Given the description of an element on the screen output the (x, y) to click on. 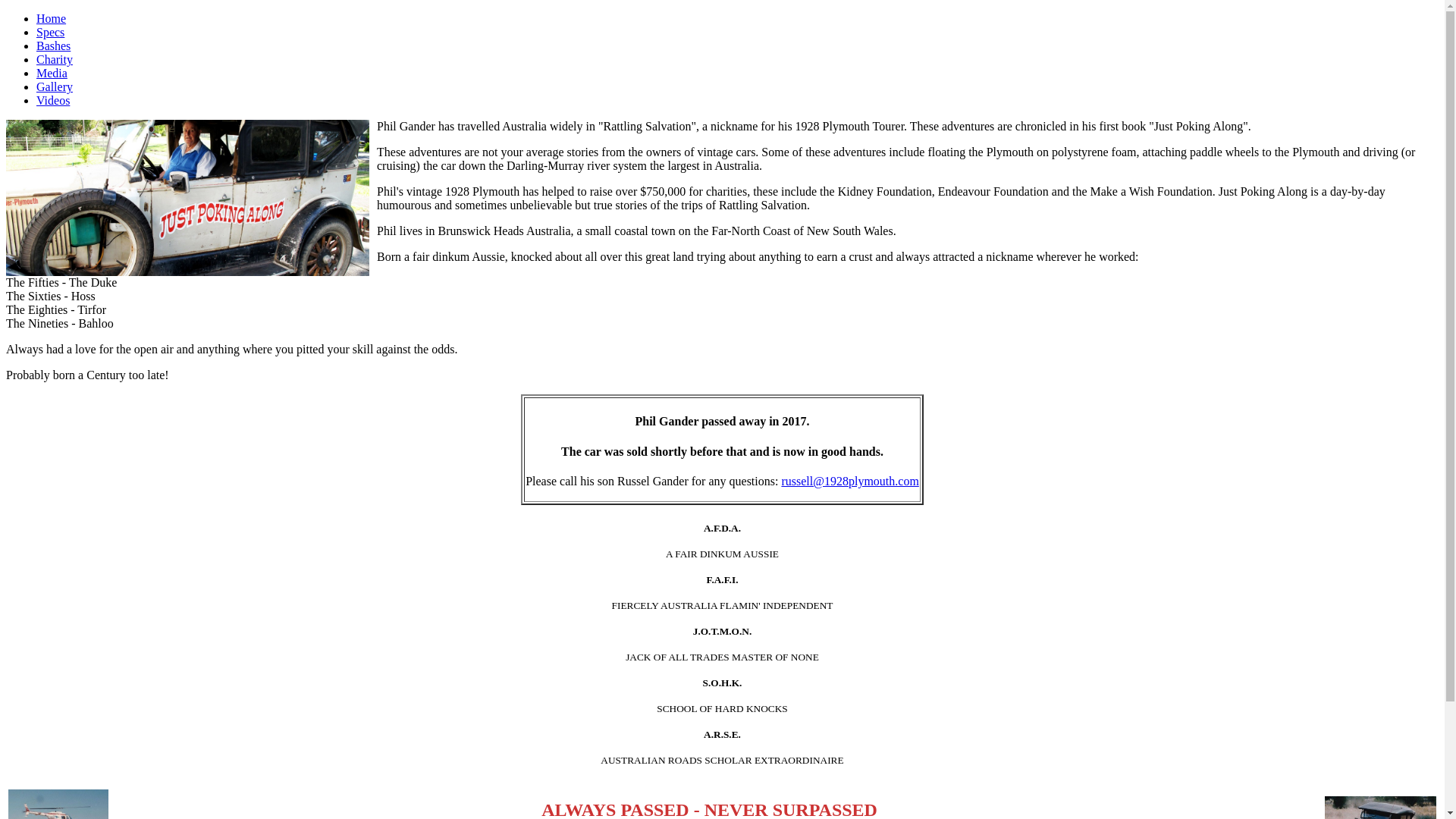
Bashes Element type: text (53, 45)
Charity Element type: text (54, 59)
Media Element type: text (51, 72)
Gallery Element type: text (54, 86)
Videos Element type: text (52, 100)
russell@1928plymouth.com Element type: text (849, 480)
Home Element type: text (50, 18)
Specs Element type: text (50, 31)
